Given the description of an element on the screen output the (x, y) to click on. 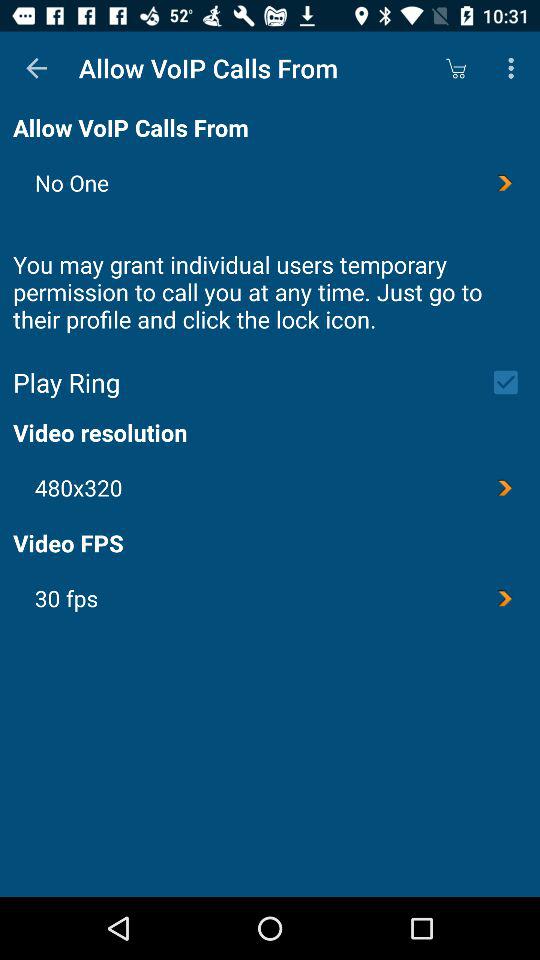
check play ring (512, 382)
